Given the description of an element on the screen output the (x, y) to click on. 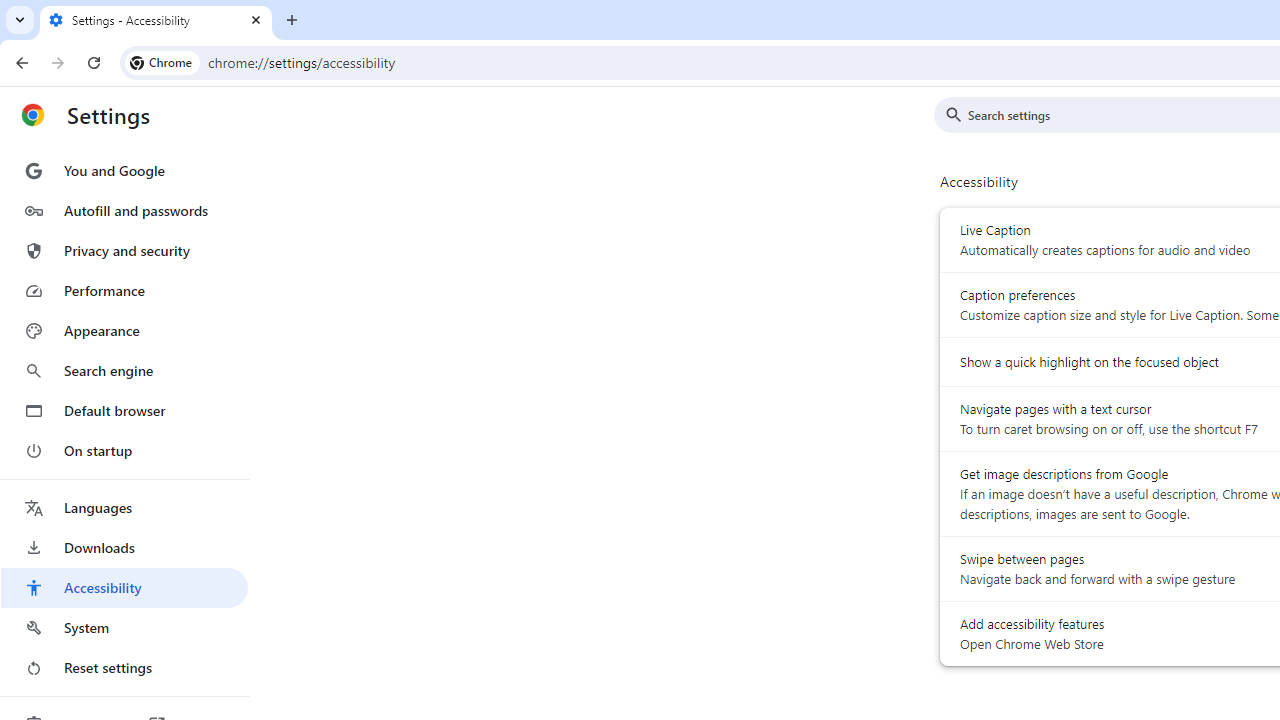
Downloads (124, 547)
On startup (124, 450)
Autofill and passwords (124, 210)
Performance (124, 290)
